Given the description of an element on the screen output the (x, y) to click on. 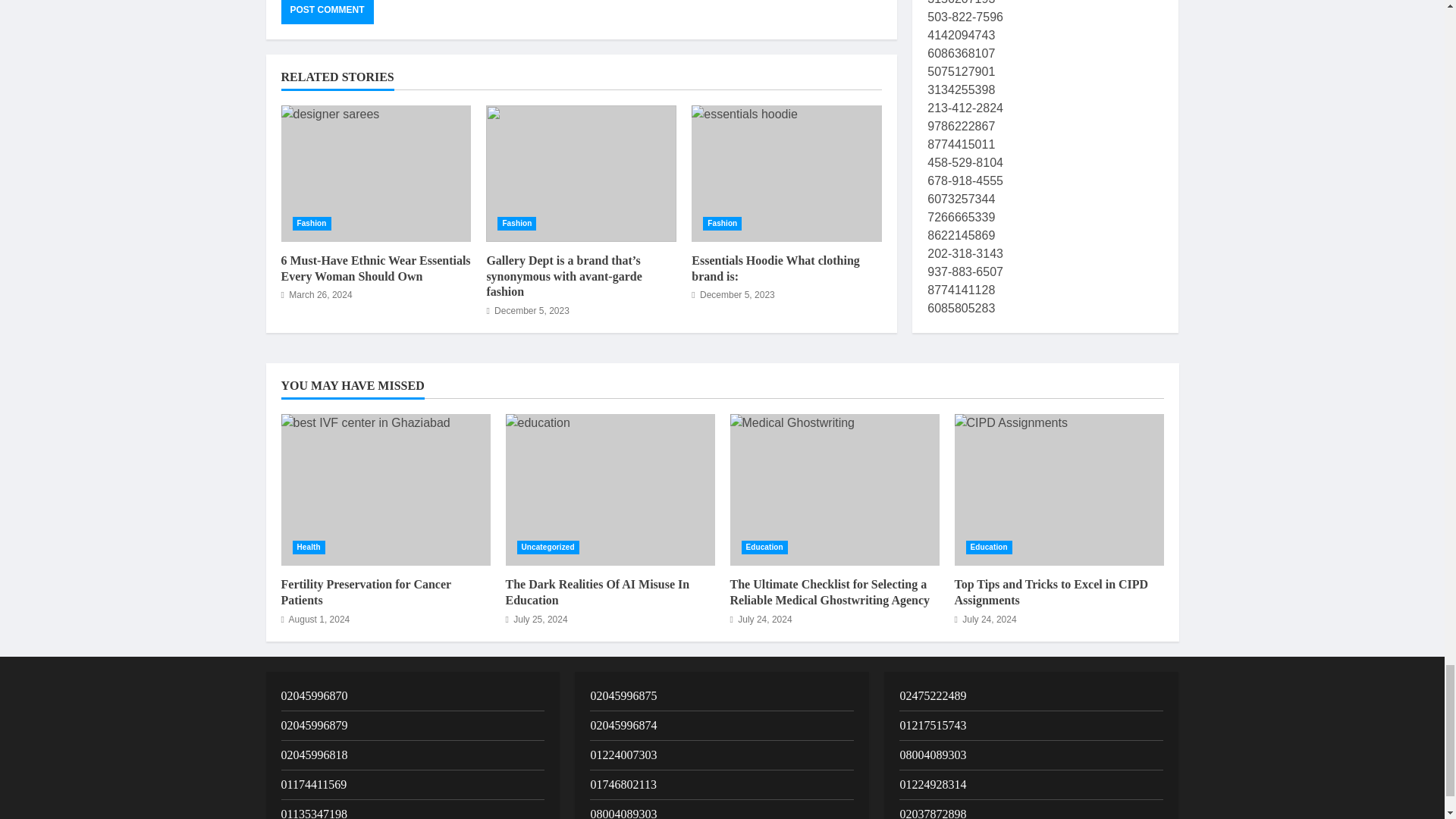
Post Comment (326, 12)
